Given the description of an element on the screen output the (x, y) to click on. 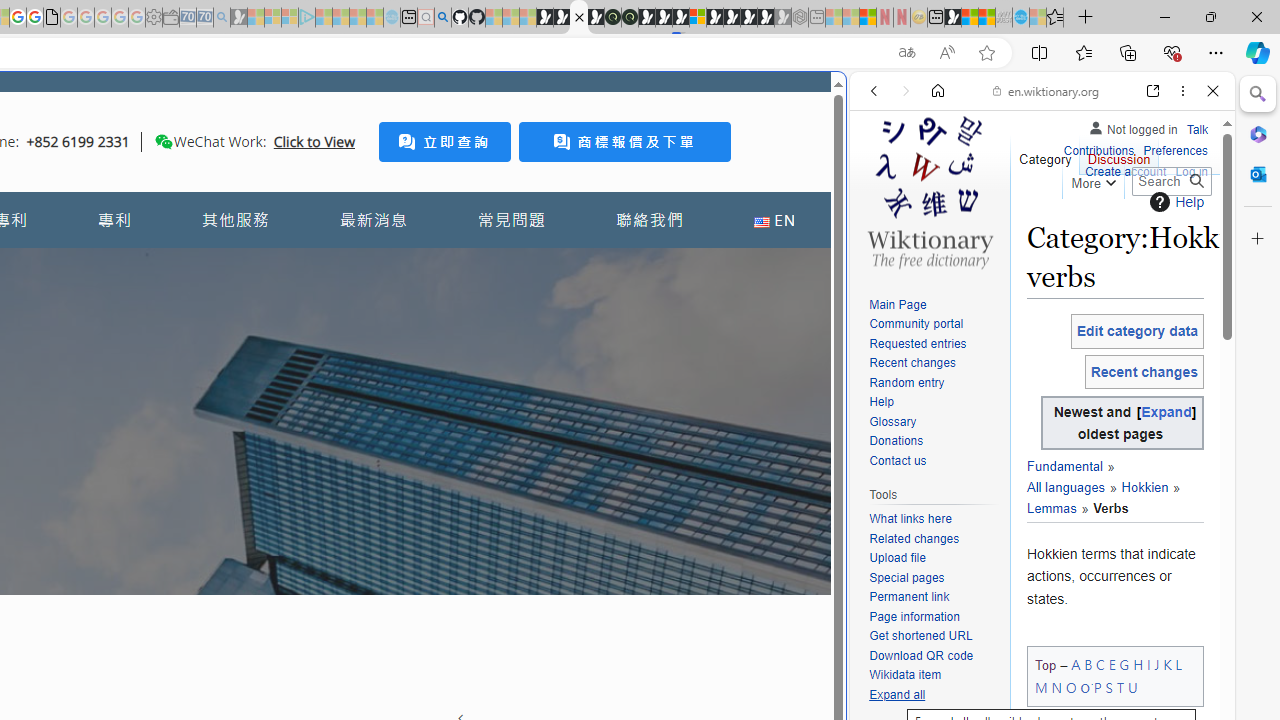
Search Wiktionary (1171, 181)
Earth has six continents not seven, radical new study claims (986, 17)
L (1178, 664)
H (1138, 664)
Related changes (914, 538)
Class: desktop (163, 141)
